Given the description of an element on the screen output the (x, y) to click on. 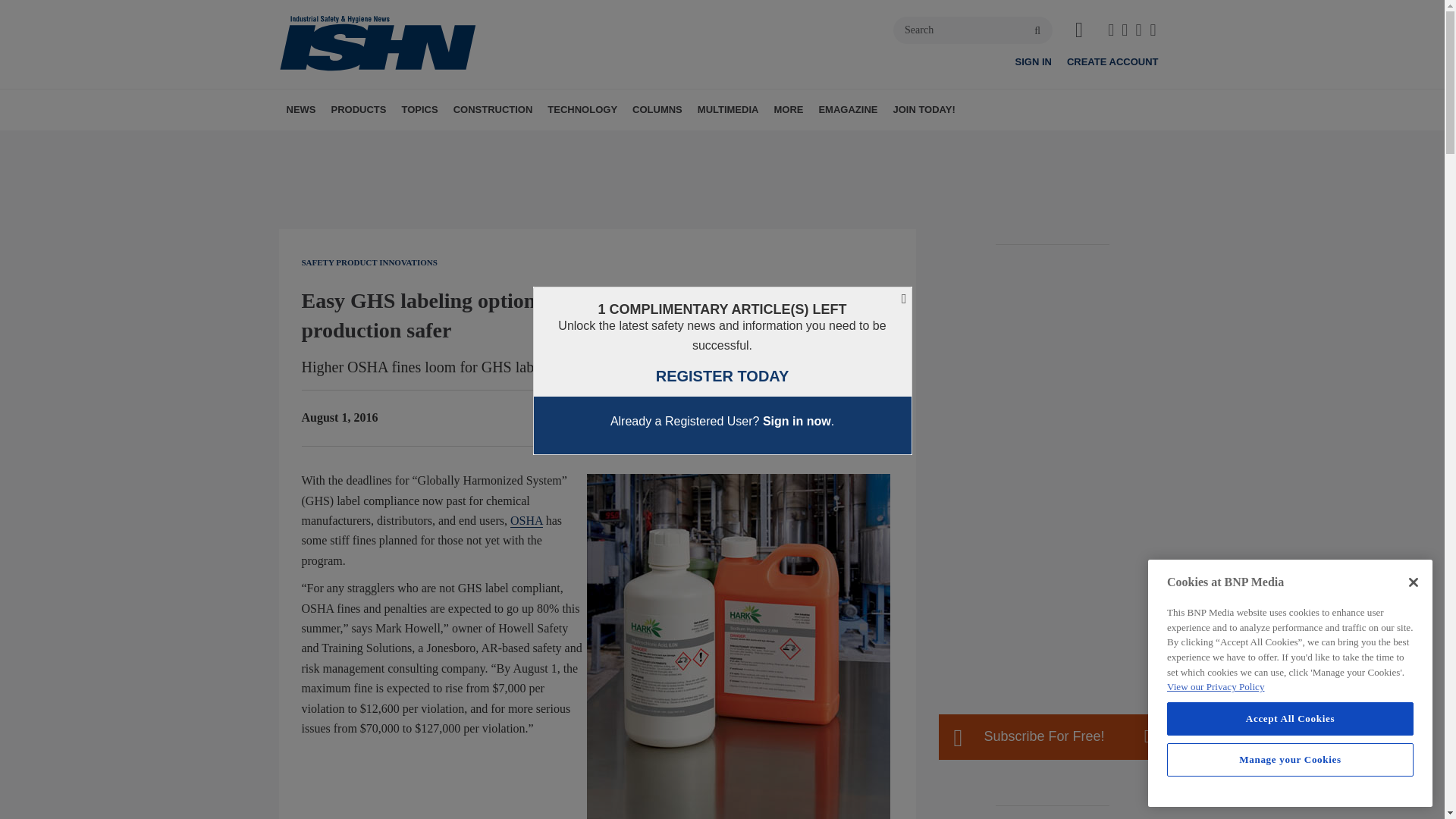
Search (972, 30)
Search (972, 30)
